Given the description of an element on the screen output the (x, y) to click on. 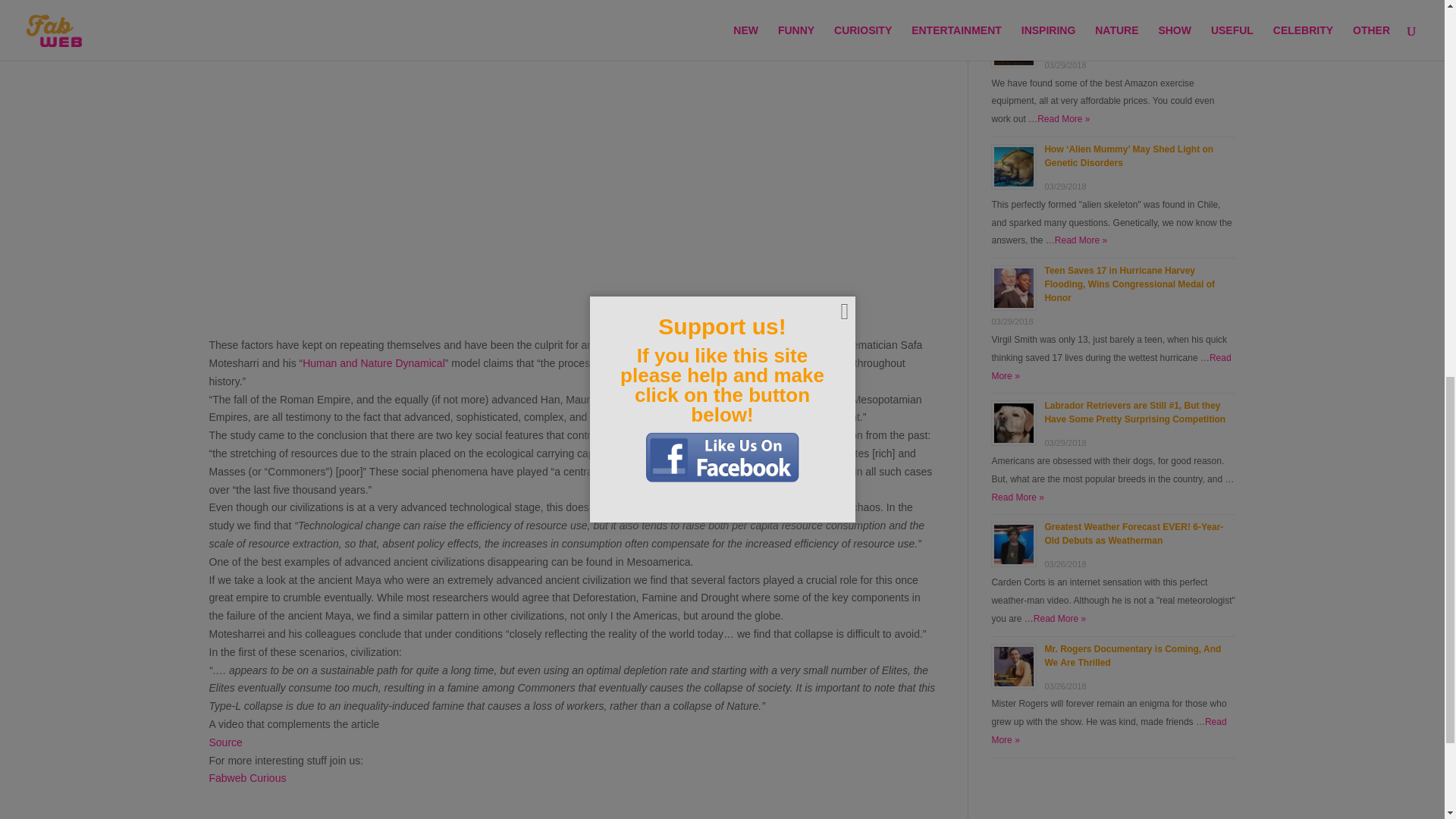
Fabweb Curious (247, 777)
Human and Nature Dynamical (373, 363)
Source (226, 742)
